Given the description of an element on the screen output the (x, y) to click on. 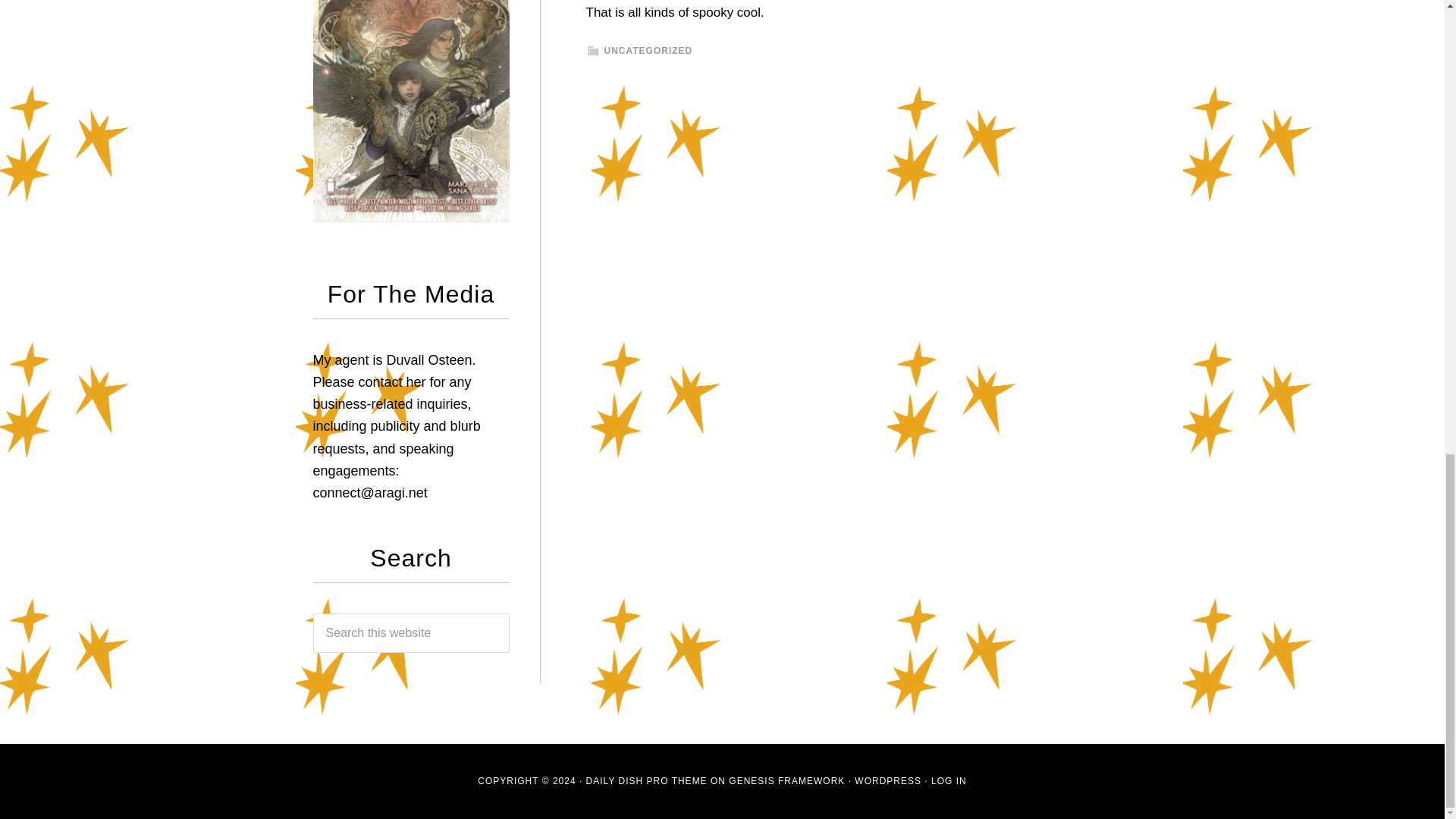
GENESIS FRAMEWORK (786, 780)
WORDPRESS (887, 780)
LOG IN (948, 780)
UNCATEGORIZED (648, 50)
DAILY DISH PRO THEME (646, 780)
